Given the description of an element on the screen output the (x, y) to click on. 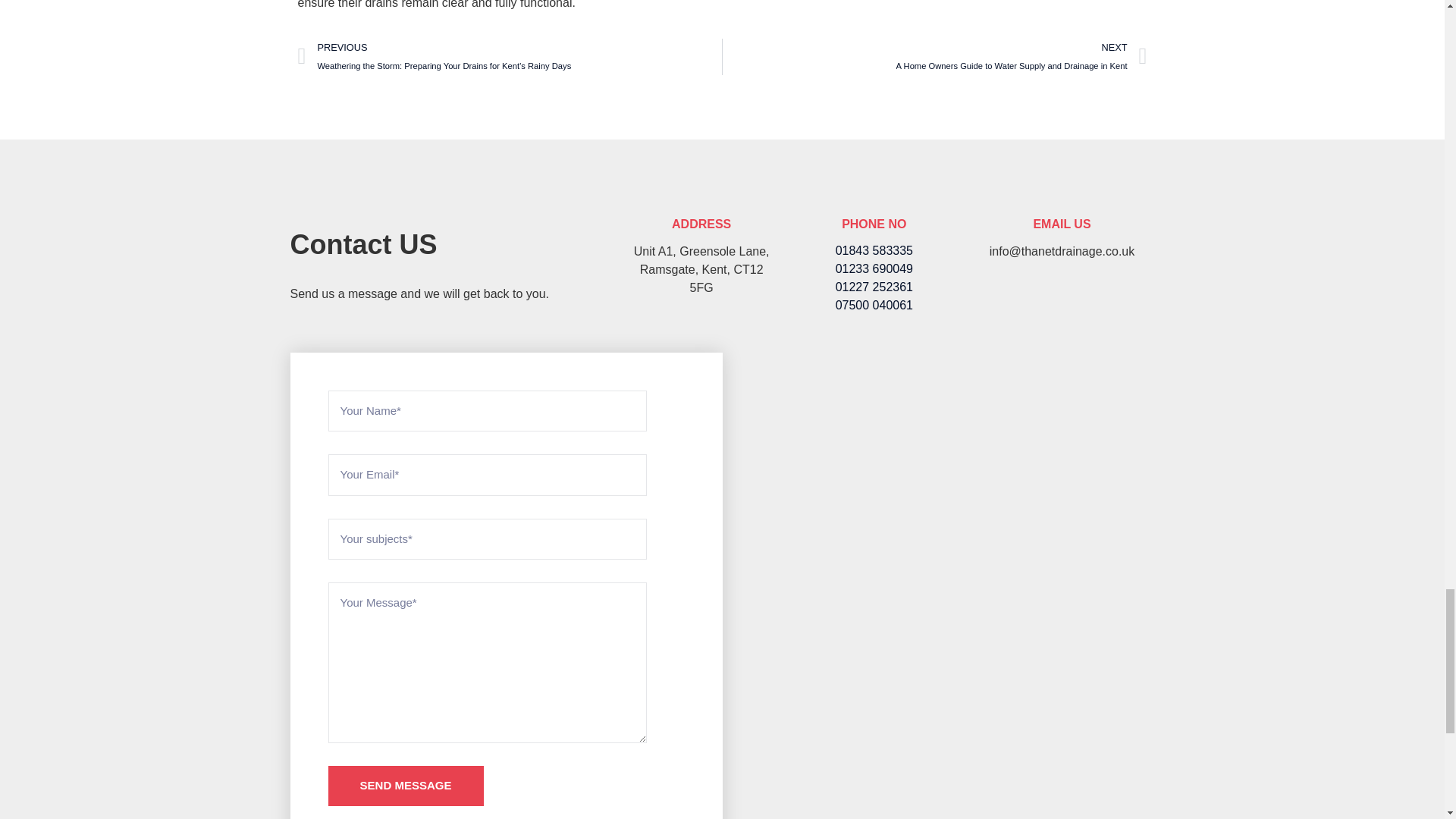
01843 583335 (873, 250)
01227 252361 (873, 287)
01233 690049 (873, 269)
